Given the description of an element on the screen output the (x, y) to click on. 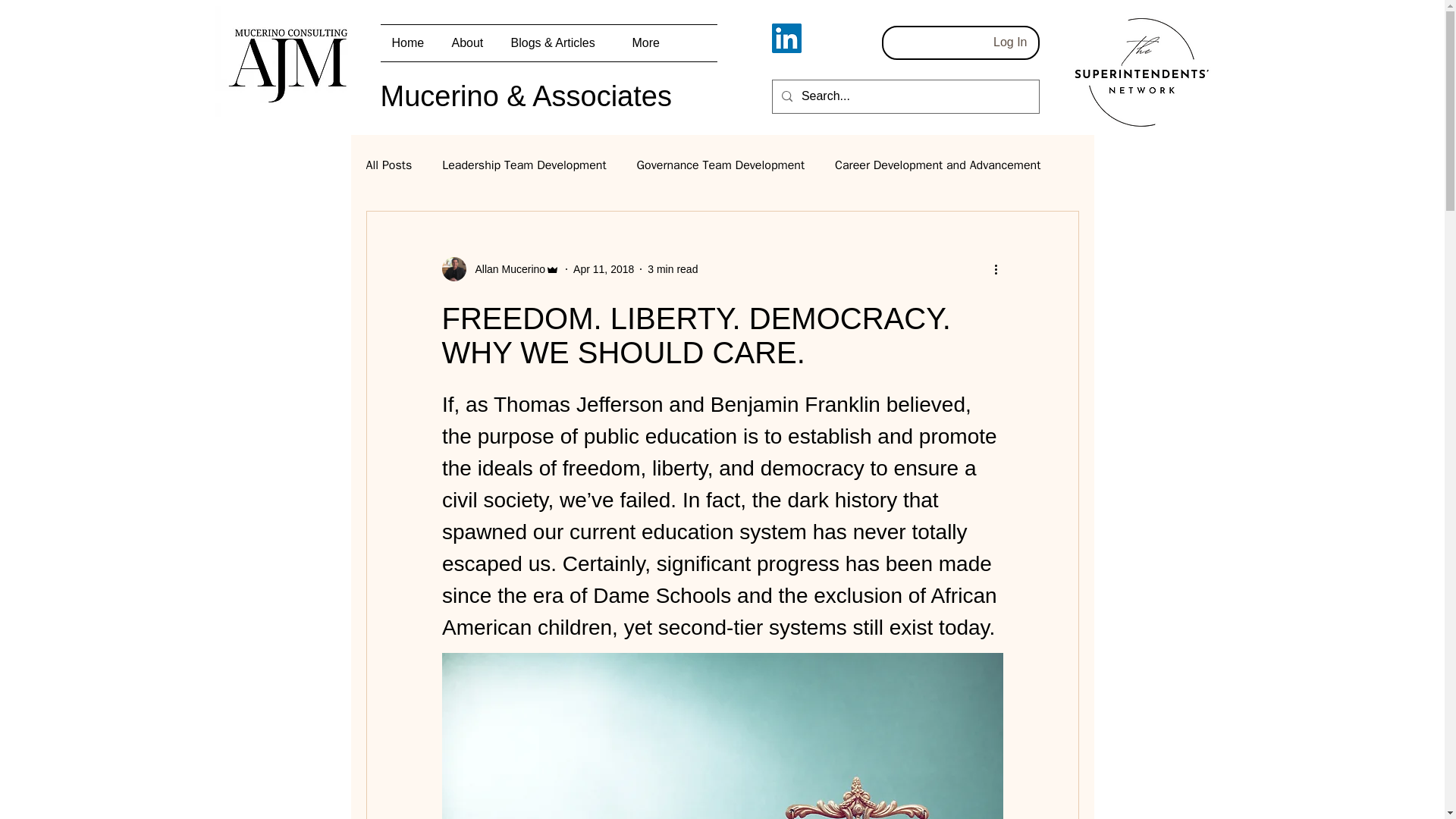
About (469, 43)
Career Development and Advancement (937, 165)
All Posts (388, 165)
Home (410, 43)
Leadership Team Development (523, 165)
Apr 11, 2018 (603, 268)
Allan Mucerino (504, 268)
Governance Team Development (721, 165)
2.png (1141, 72)
2.png (290, 61)
3 min read (672, 268)
Log In (1009, 42)
Allan Mucerino (500, 269)
